Given the description of an element on the screen output the (x, y) to click on. 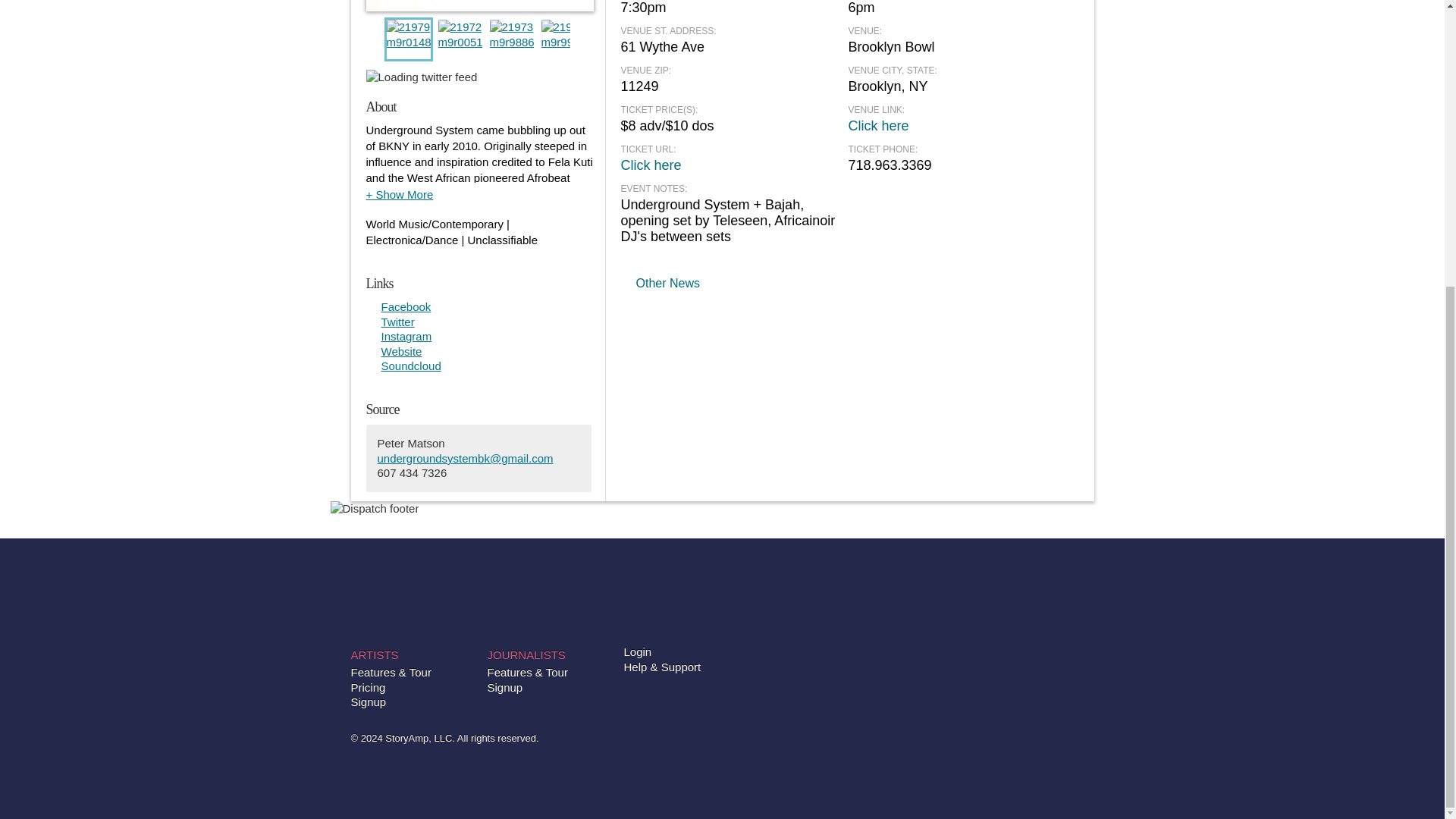
Login (636, 652)
'Domenica' credit: Nathan West (460, 34)
Pricing (367, 687)
JOURNALISTS (525, 654)
Website (401, 351)
Signup (504, 687)
Soundcloud (410, 365)
'Lollise' credit: Nathan West (511, 34)
Signup (367, 702)
Other News (666, 283)
